Given the description of an element on the screen output the (x, y) to click on. 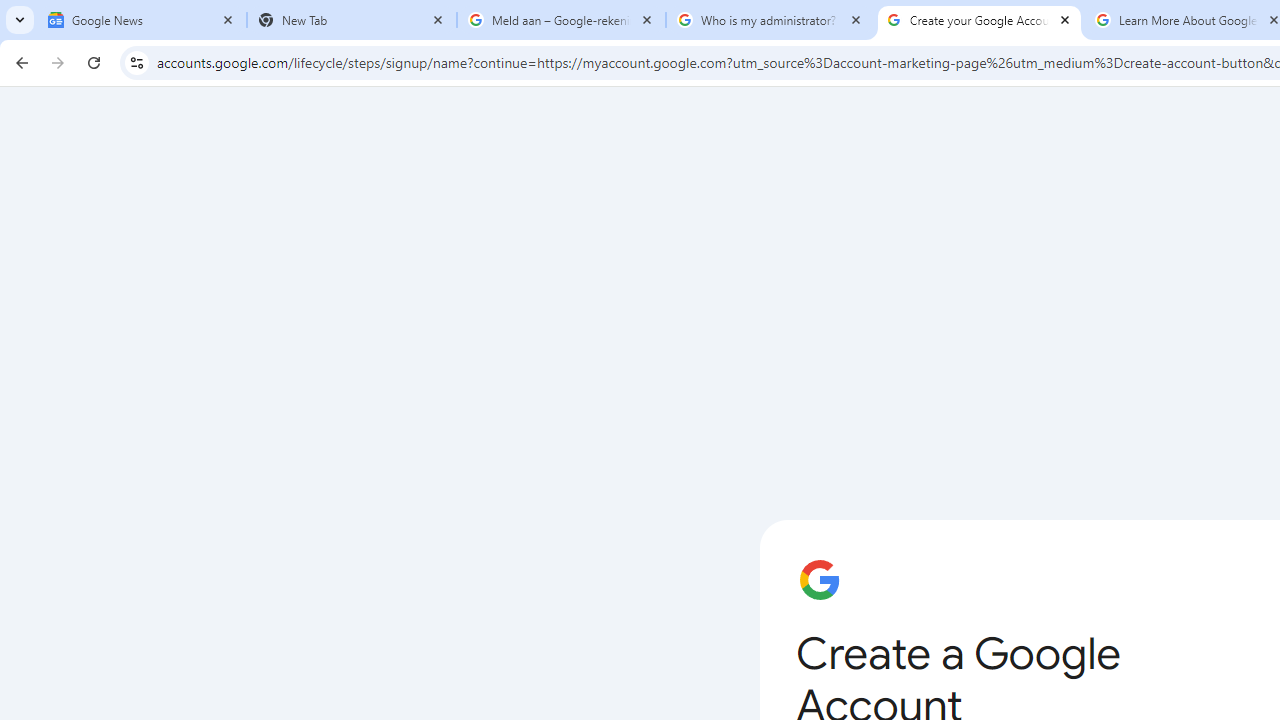
New Tab (351, 20)
Google News (142, 20)
Who is my administrator? - Google Account Help (770, 20)
Create your Google Account (979, 20)
